Given the description of an element on the screen output the (x, y) to click on. 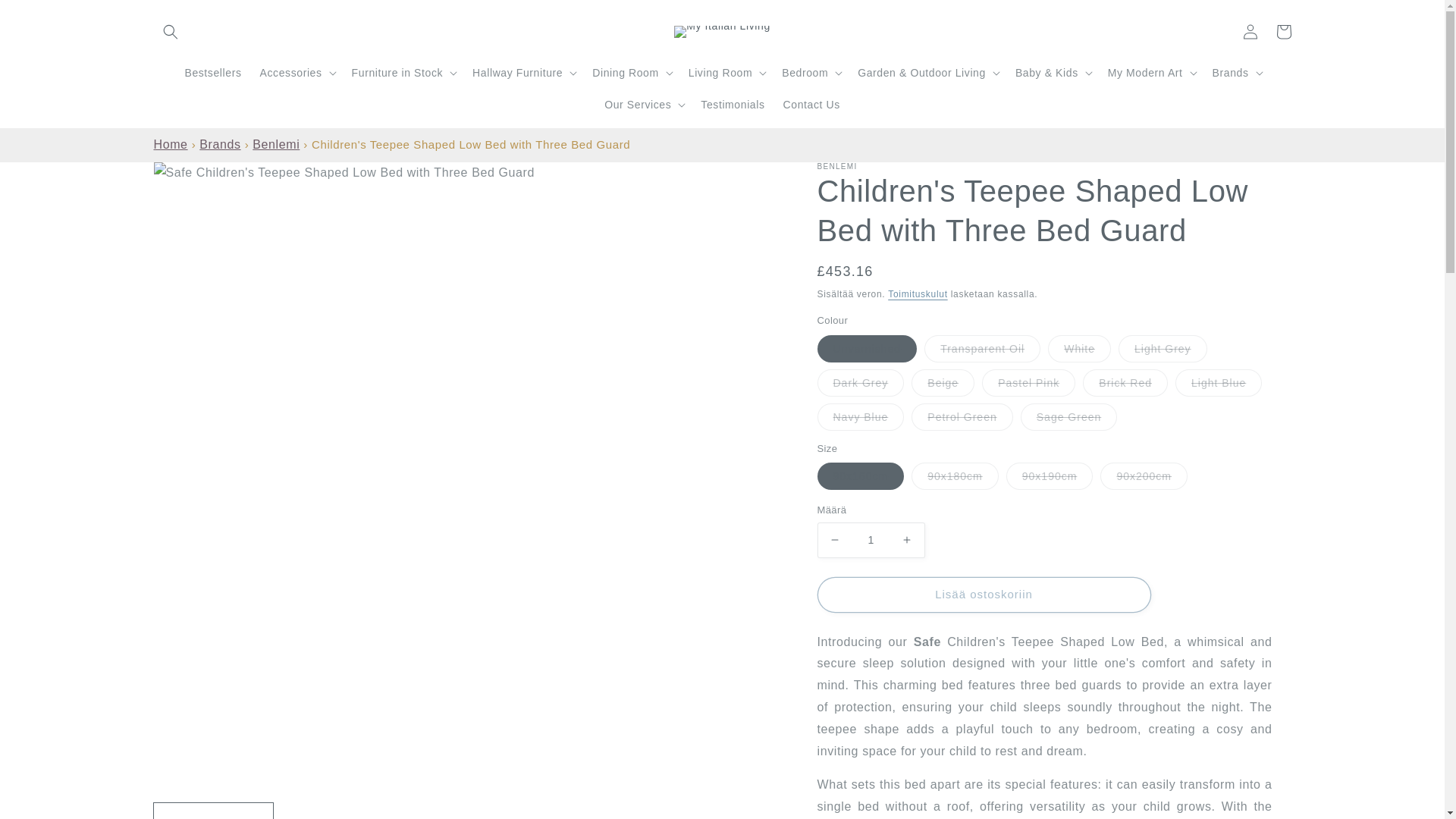
1 (870, 539)
Brands (219, 144)
